Given the description of an element on the screen output the (x, y) to click on. 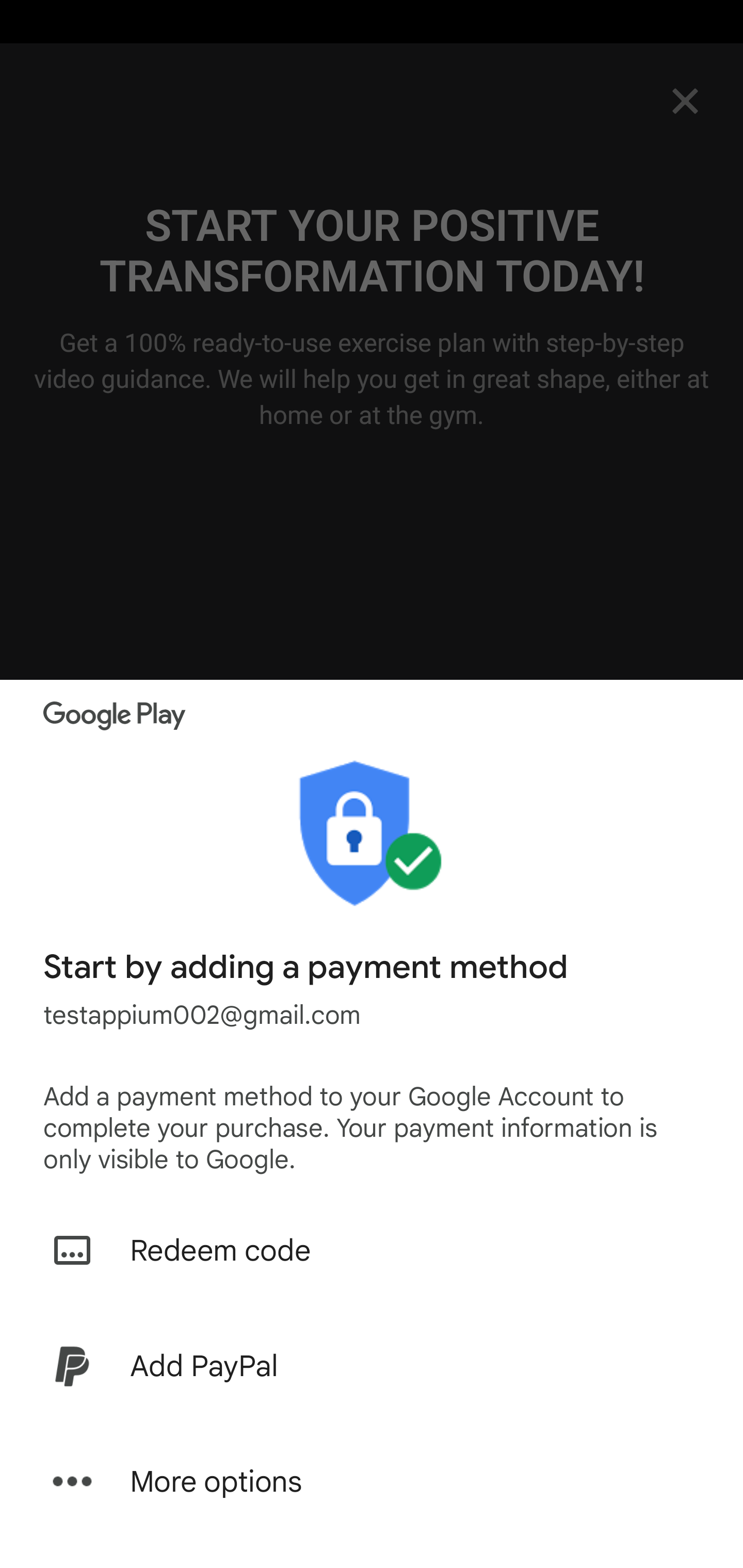
Redeem code (371, 1250)
Add PayPal (371, 1365)
More options (371, 1481)
